Given the description of an element on the screen output the (x, y) to click on. 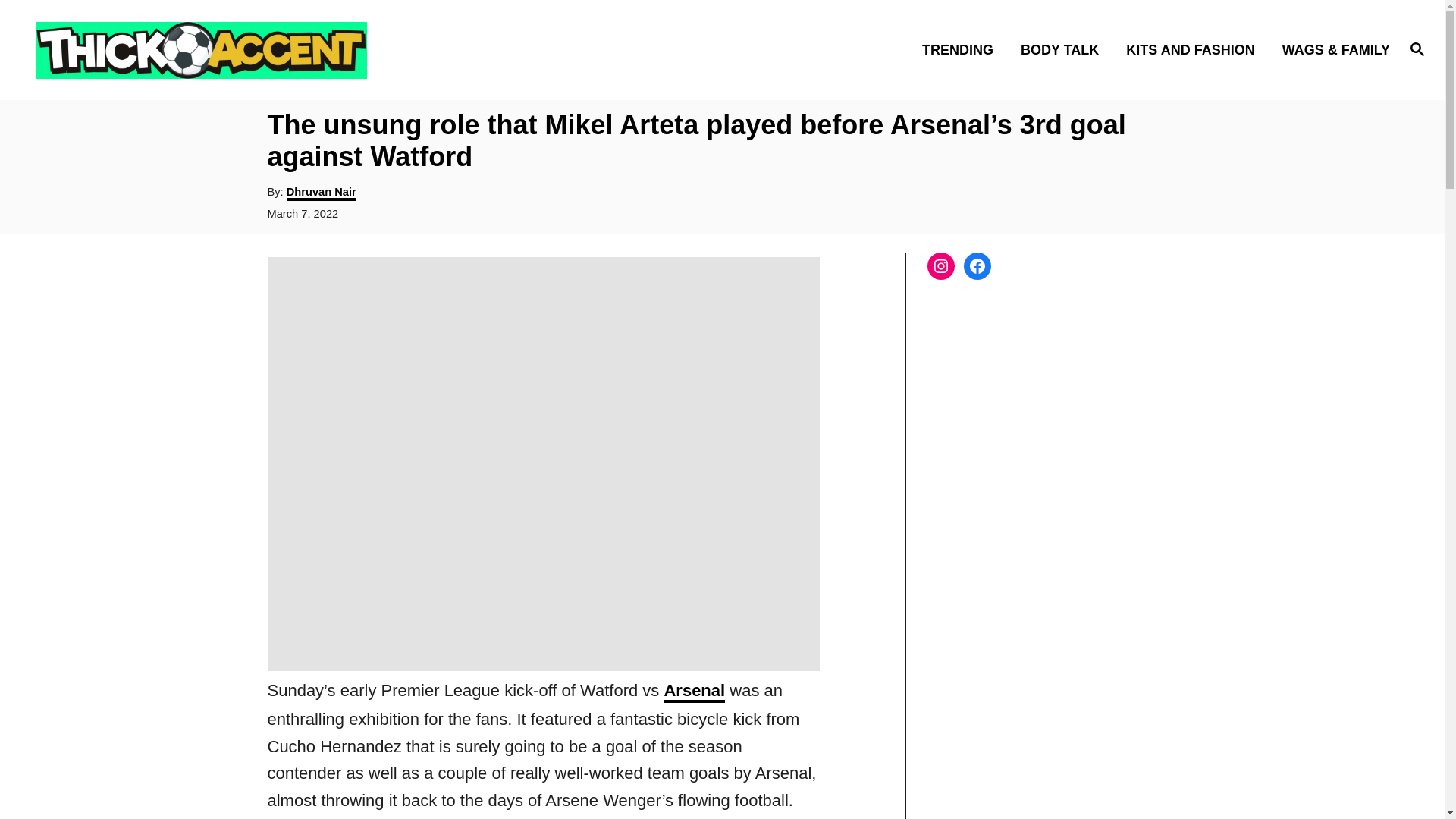
TRENDING (961, 49)
BODY TALK (1063, 49)
Magnifying Glass (1416, 48)
Arsenal (694, 691)
Instagram (939, 266)
KITS AND FASHION (1194, 49)
Thick Accent (204, 49)
Dhruvan Nair (321, 192)
Facebook (976, 266)
